Given the description of an element on the screen output the (x, y) to click on. 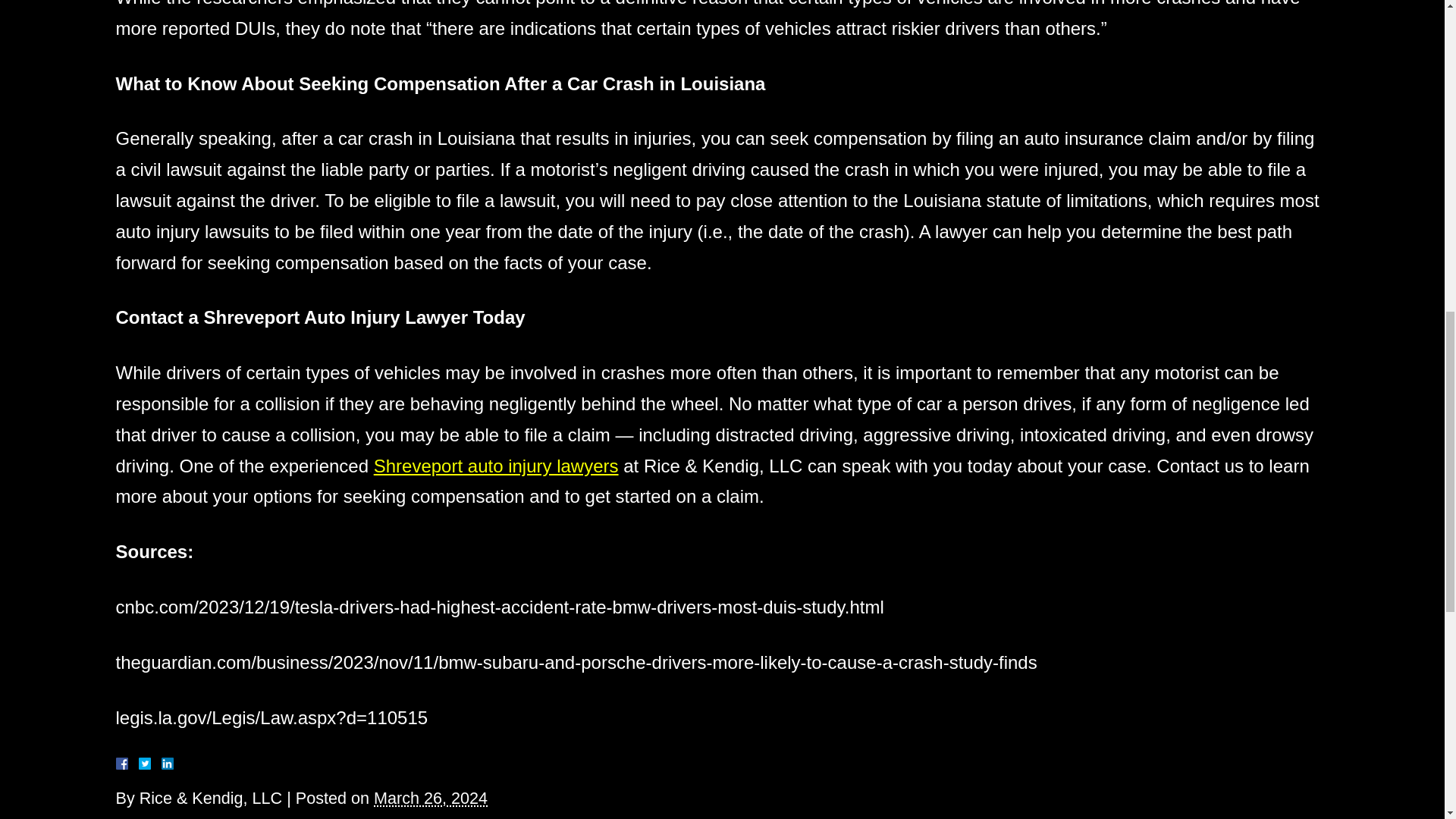
2024-03-26T03:00:03-0700 (430, 797)
Twitter (149, 763)
Facebook (139, 763)
LinkedIn (160, 763)
